Given the description of an element on the screen output the (x, y) to click on. 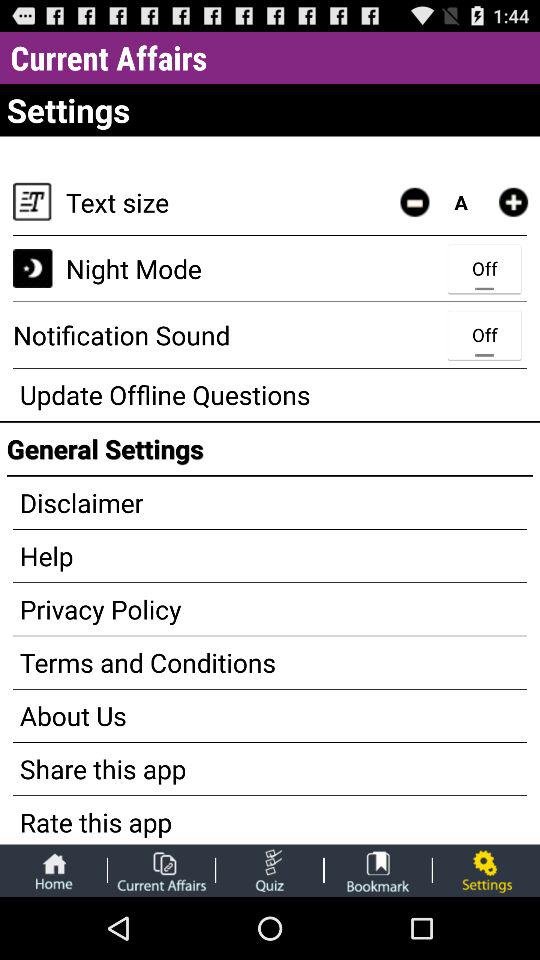
increase text size (513, 202)
